Given the description of an element on the screen output the (x, y) to click on. 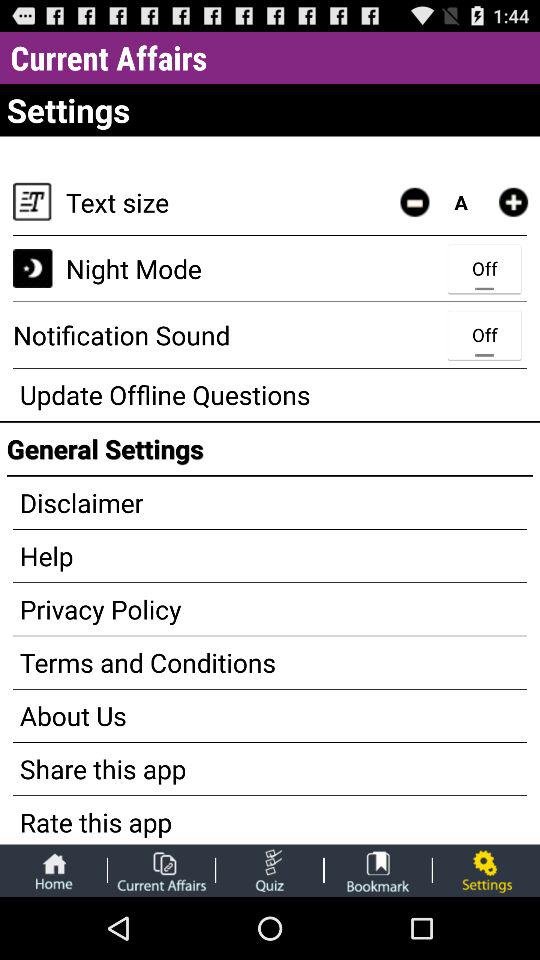
increase text size (513, 202)
